Given the description of an element on the screen output the (x, y) to click on. 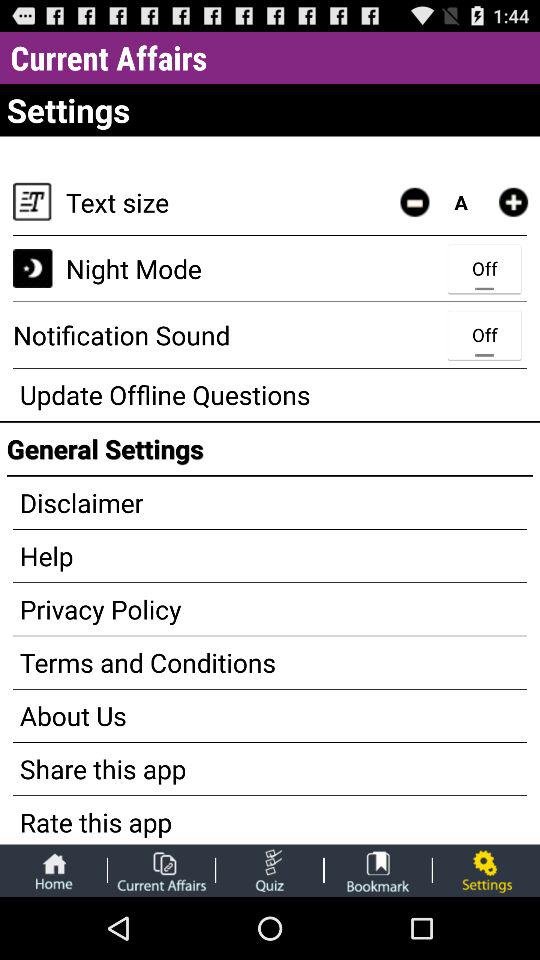
increase text size (513, 202)
